Given the description of an element on the screen output the (x, y) to click on. 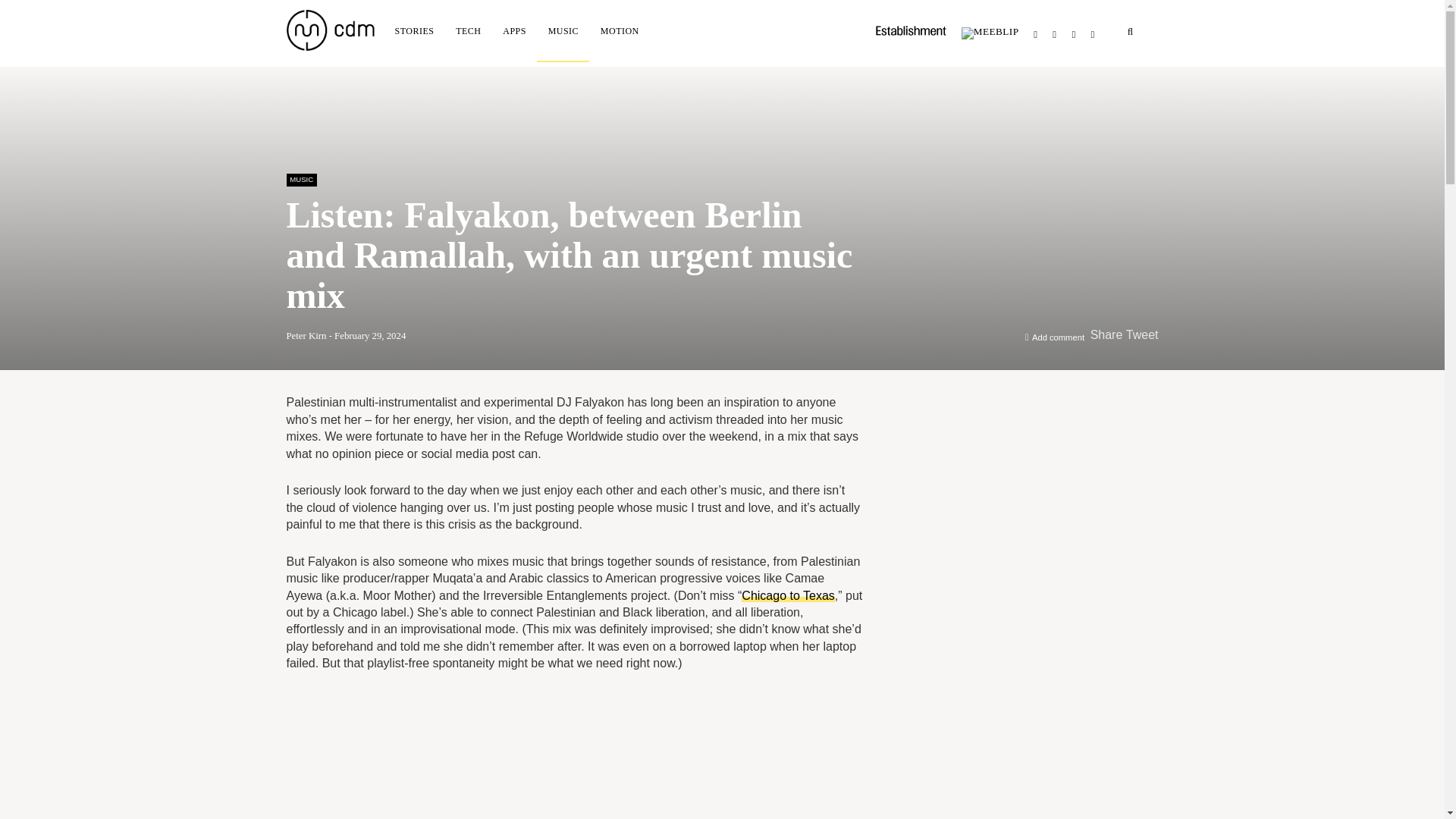
Tweet (1141, 334)
Chicago to Texas (787, 594)
search (1130, 32)
MOTION (619, 30)
STORIES (414, 30)
Share (1106, 334)
Add comment (1058, 337)
MUSIC (301, 179)
